Given the description of an element on the screen output the (x, y) to click on. 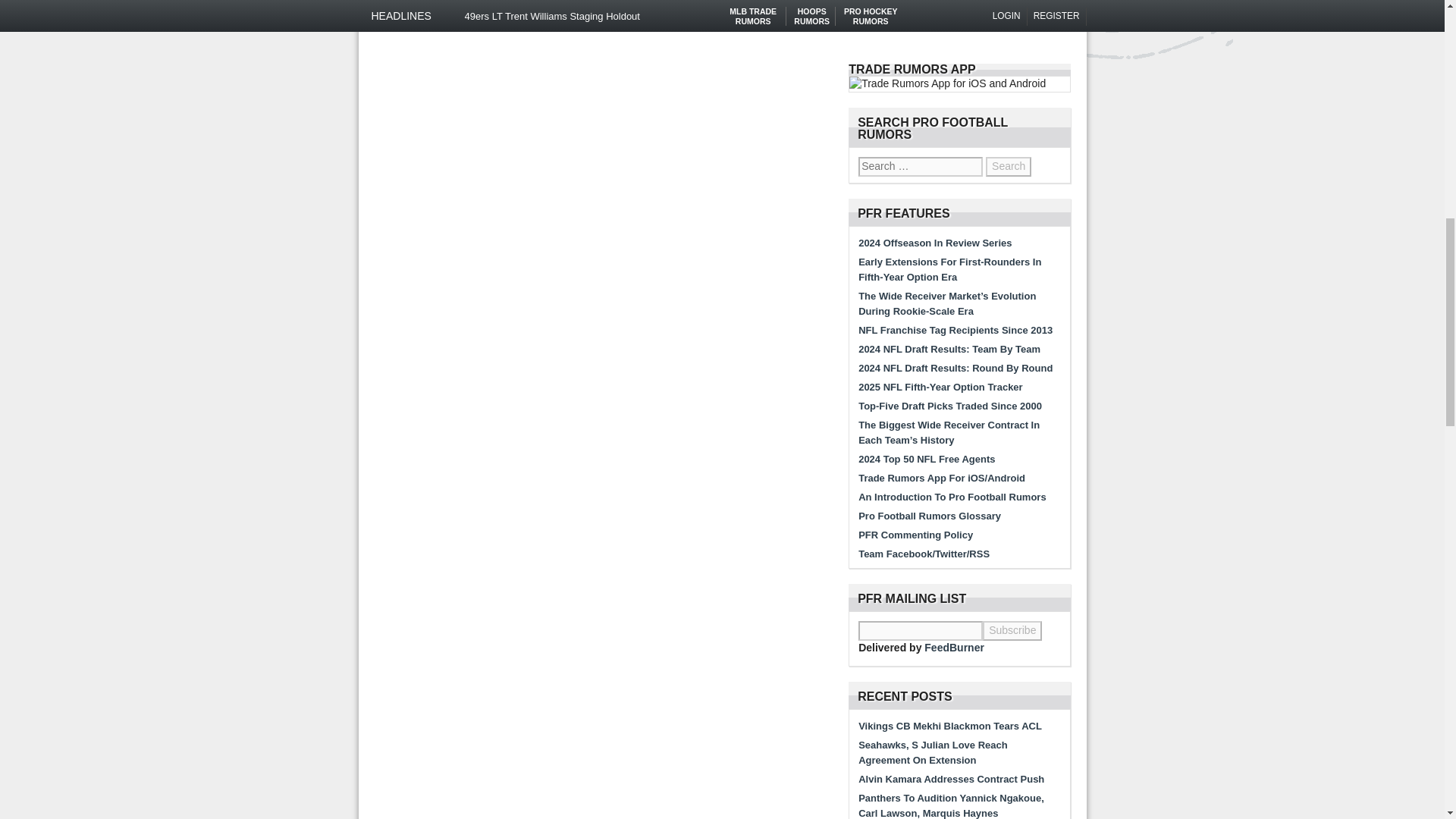
Search for: (920, 166)
Subscribe (1012, 630)
Search (1007, 166)
